Given the description of an element on the screen output the (x, y) to click on. 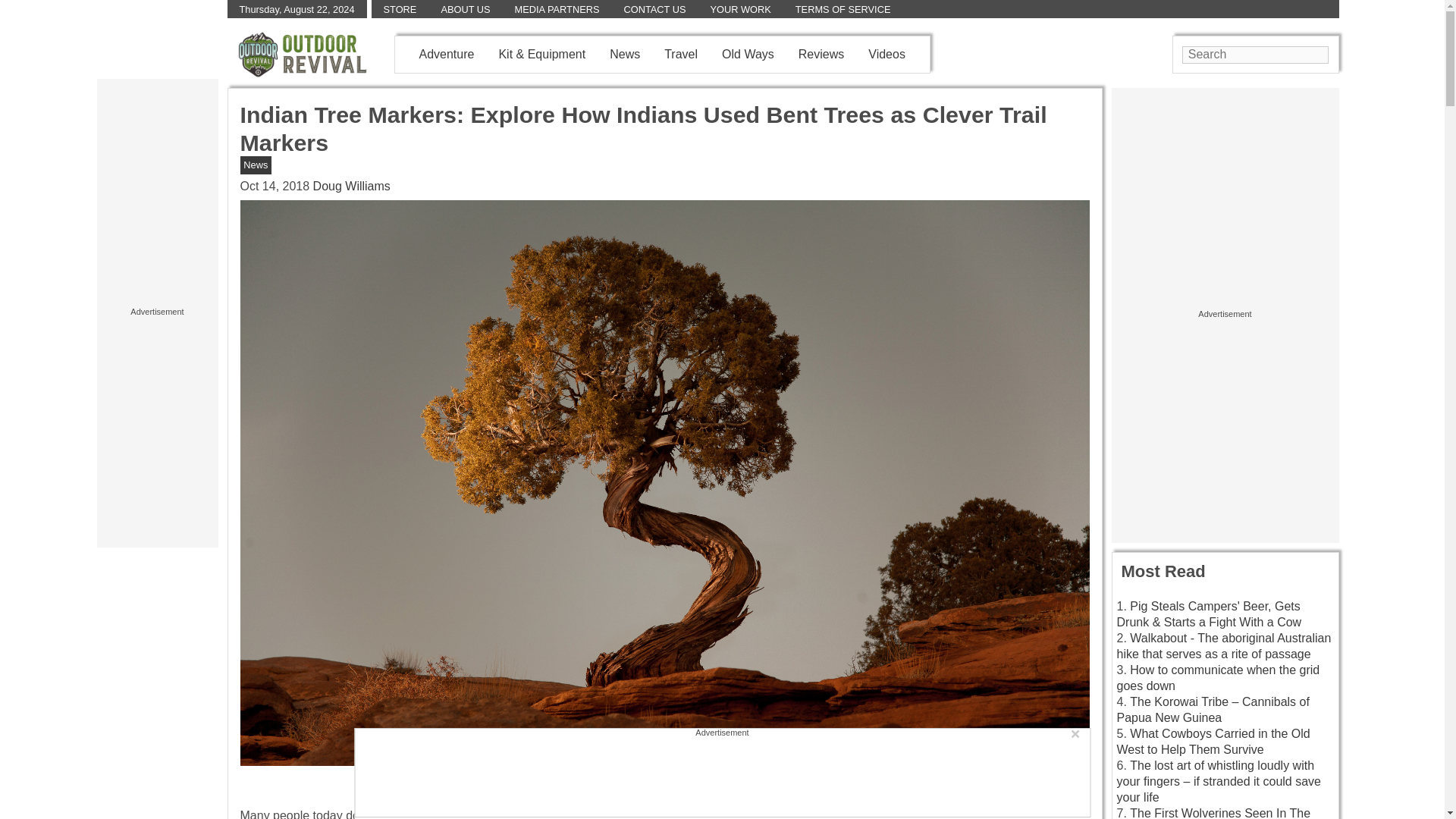
News (255, 164)
How to communicate when the grid goes down (1217, 677)
What Cowboys Carried in the Old West to Help Them Survive (1212, 741)
Reviews (820, 53)
Travel (680, 53)
Videos (886, 53)
STORE (400, 9)
News (625, 53)
CONTACT US (654, 9)
Doug Williams (351, 185)
